Given the description of an element on the screen output the (x, y) to click on. 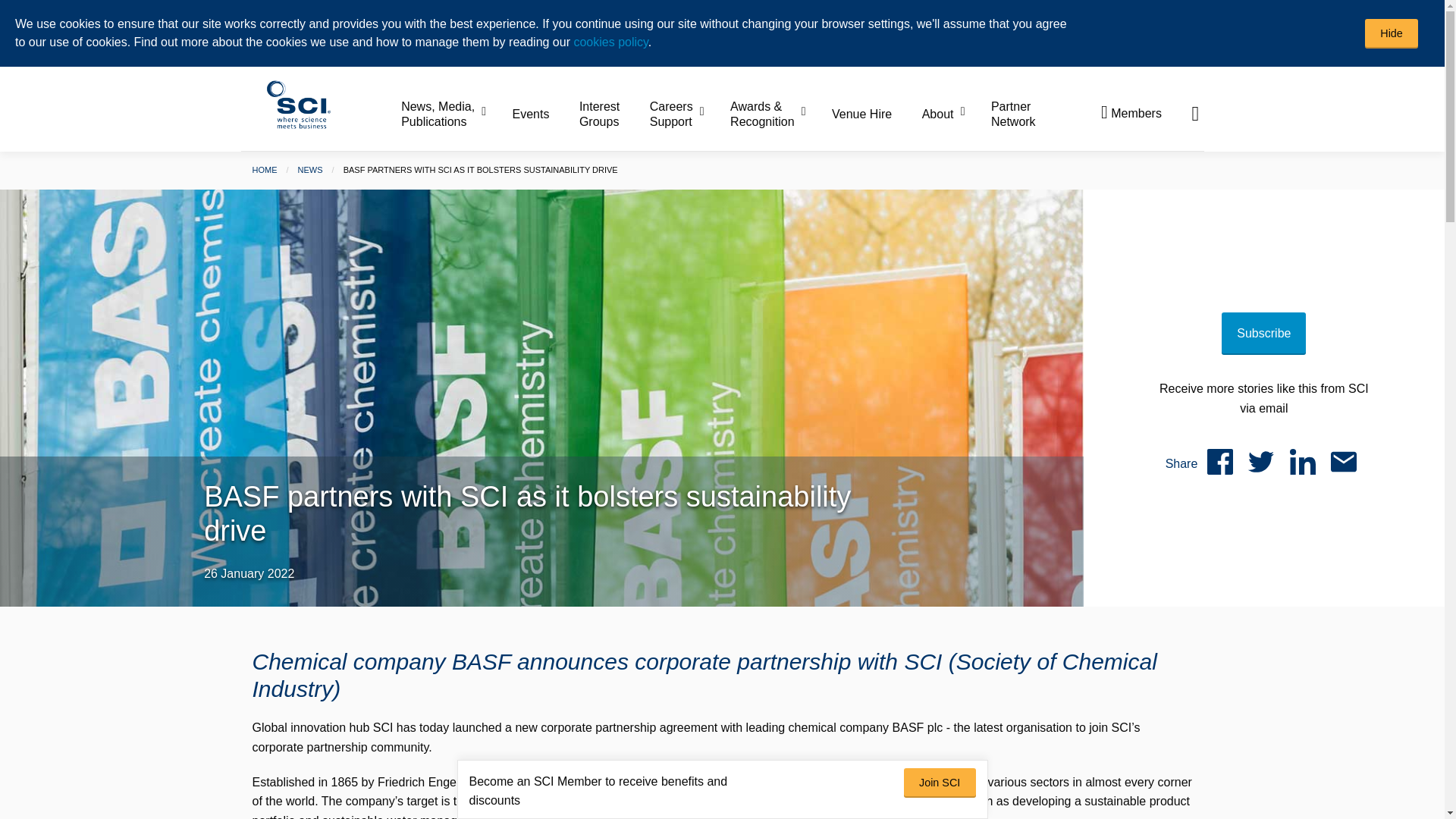
About (954, 113)
Careers Support (687, 114)
cookies policy (610, 42)
Events (544, 113)
Venue Hire (874, 113)
Interest Groups (612, 114)
Partner Network (1013, 114)
News, Media, Publications (454, 114)
Hide (1391, 33)
